Given the description of an element on the screen output the (x, y) to click on. 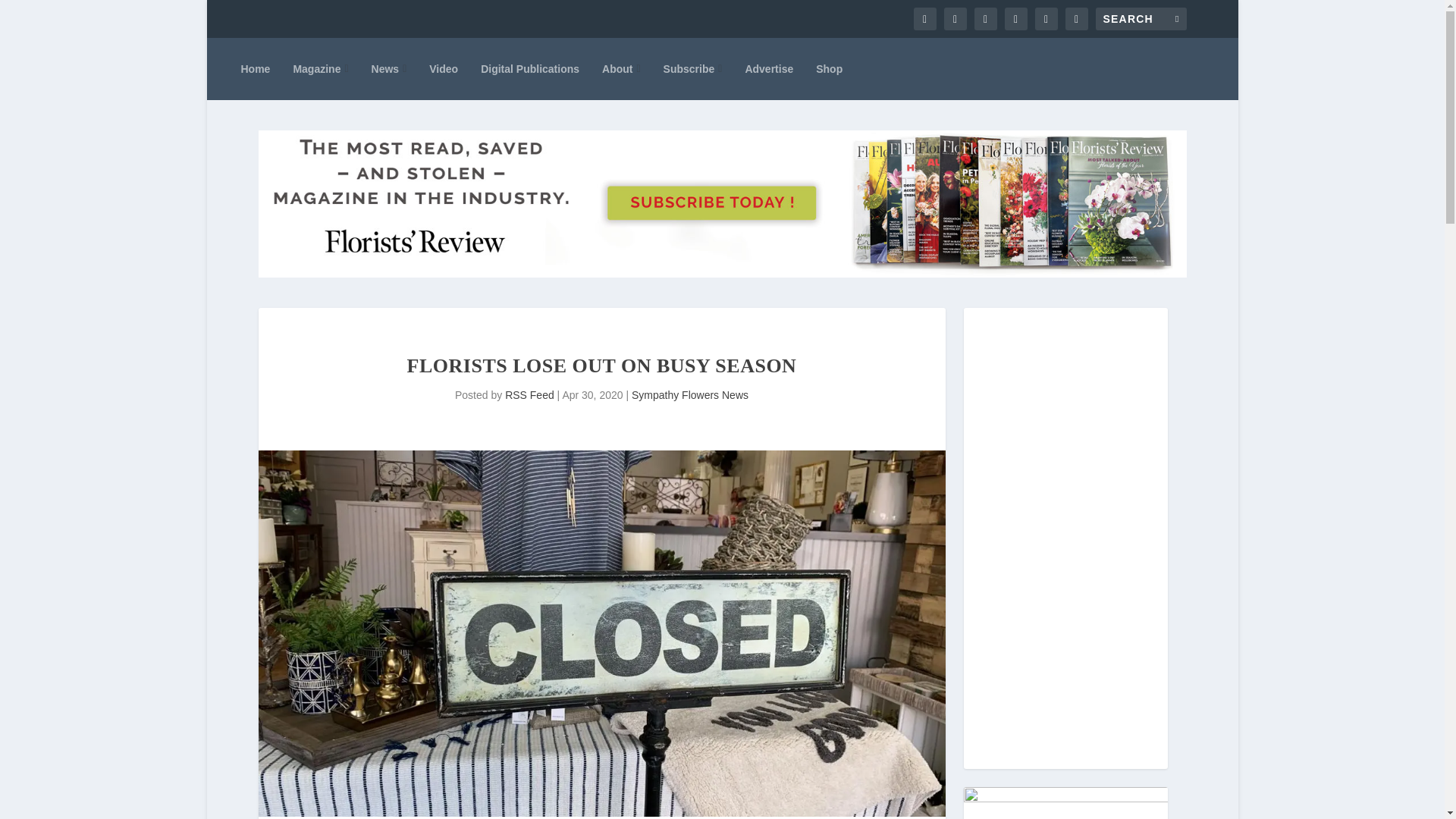
Digital Publications (529, 68)
Posts by RSS Feed (529, 395)
Magazine (319, 68)
